Given the description of an element on the screen output the (x, y) to click on. 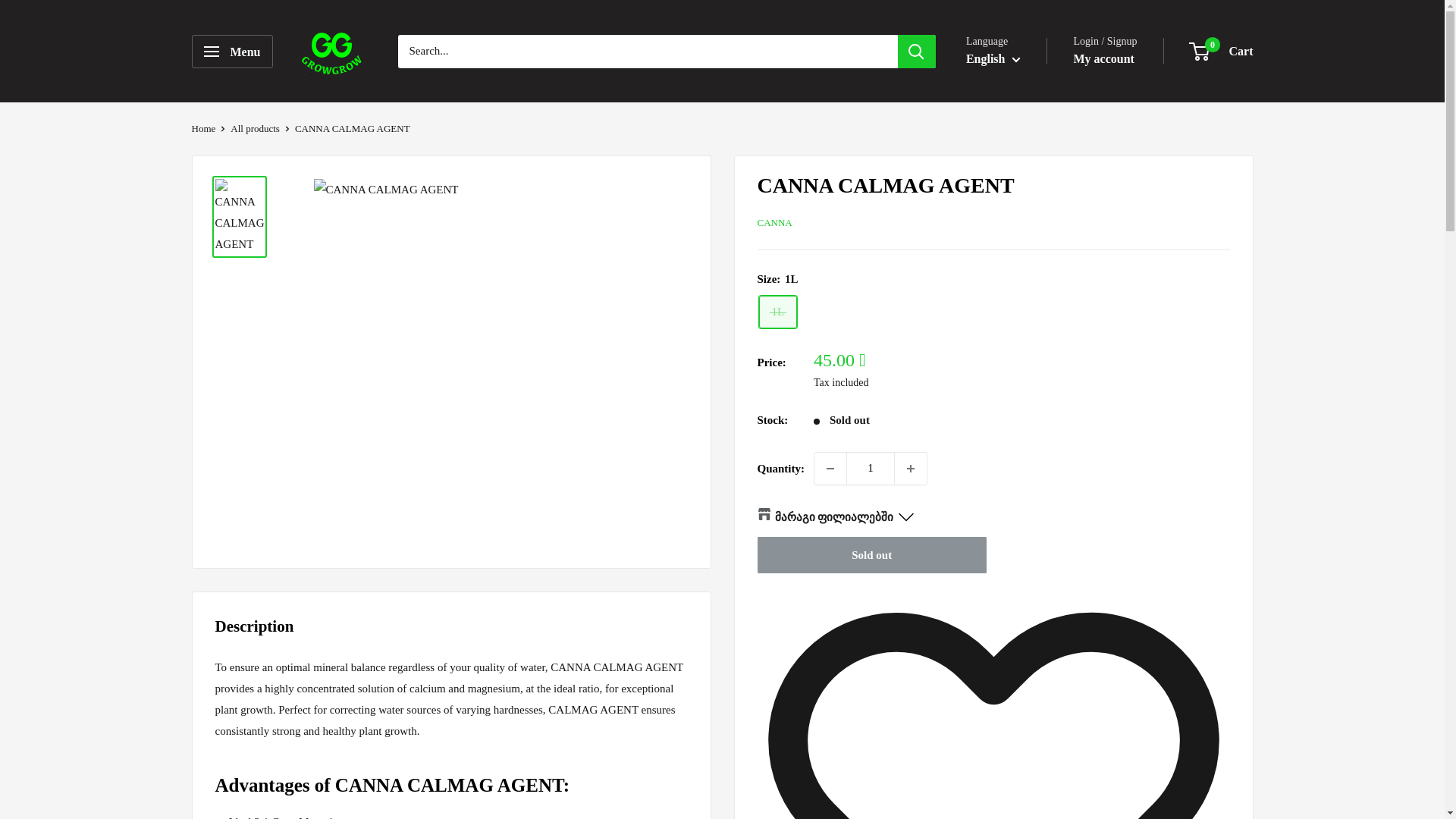
Decrease quantity by 1 (829, 468)
1 (870, 468)
1L (777, 311)
Increase quantity by 1 (910, 468)
